Given the description of an element on the screen output the (x, y) to click on. 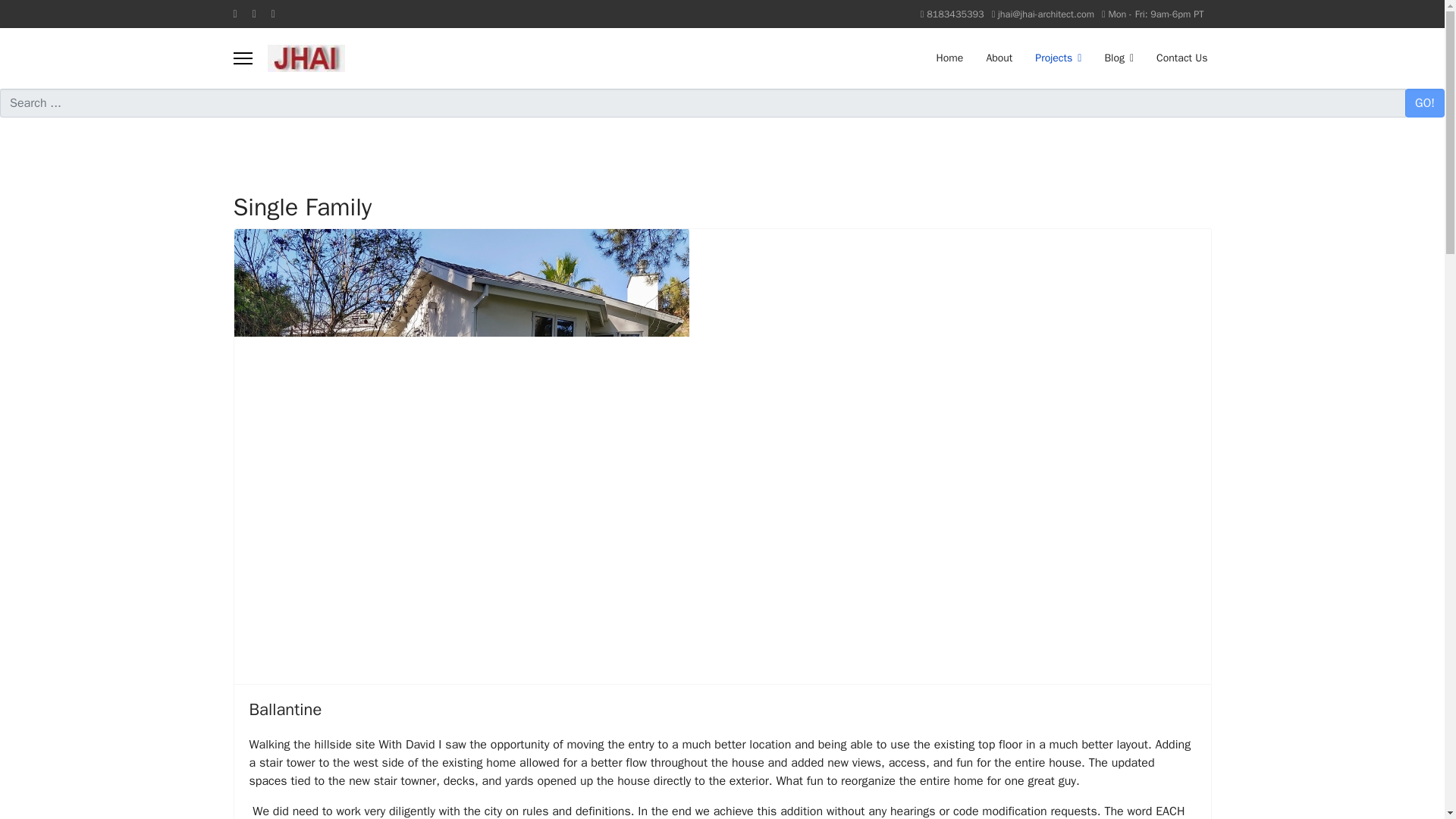
8183435393 (955, 14)
Ballantine (284, 709)
Contact Us (1175, 57)
Projects (1058, 57)
